Given the description of an element on the screen output the (x, y) to click on. 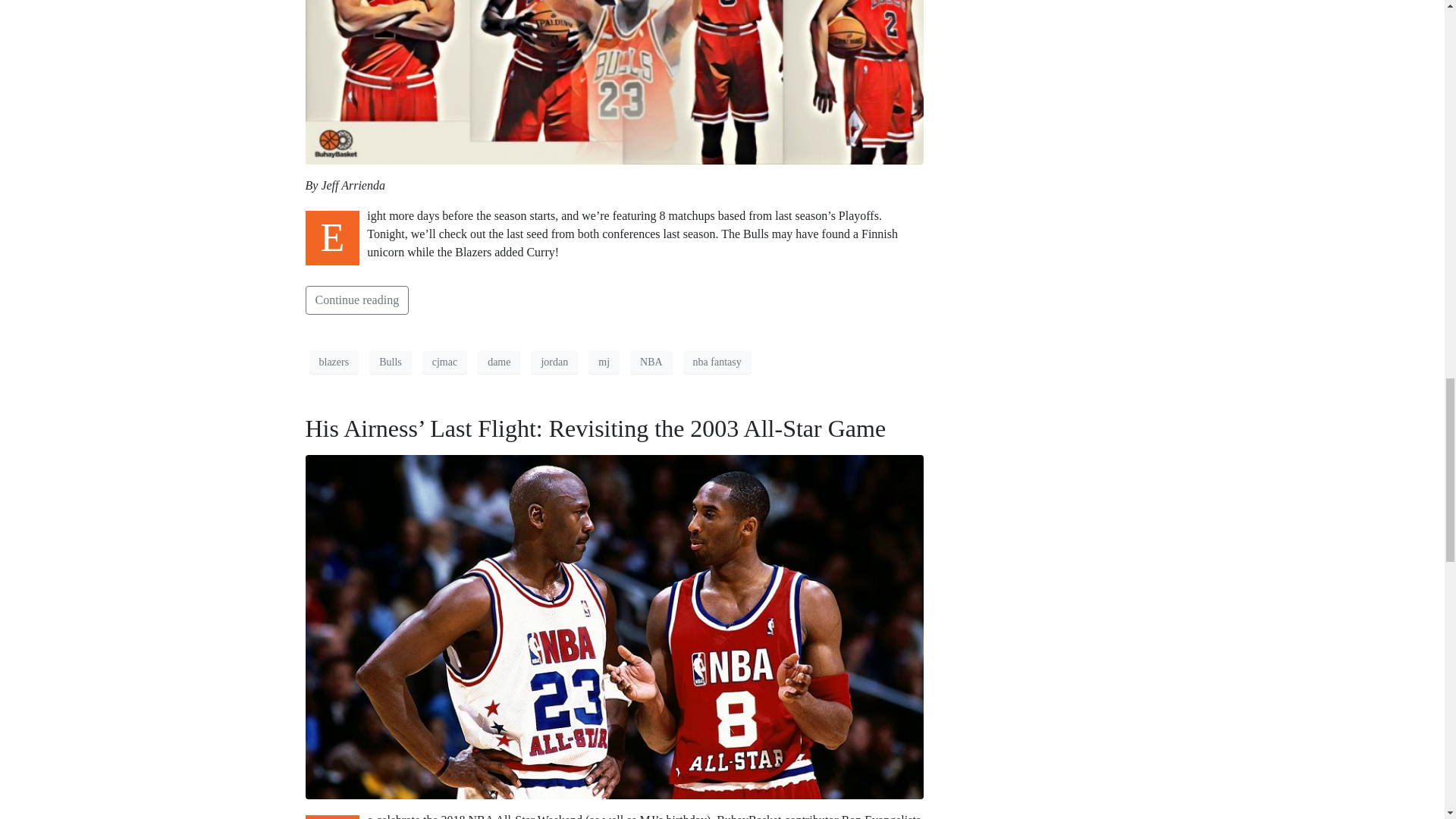
NBA Fantaserye: Portland Trail Blazers vs. Chicago Bulls (613, 4)
